Given the description of an element on the screen output the (x, y) to click on. 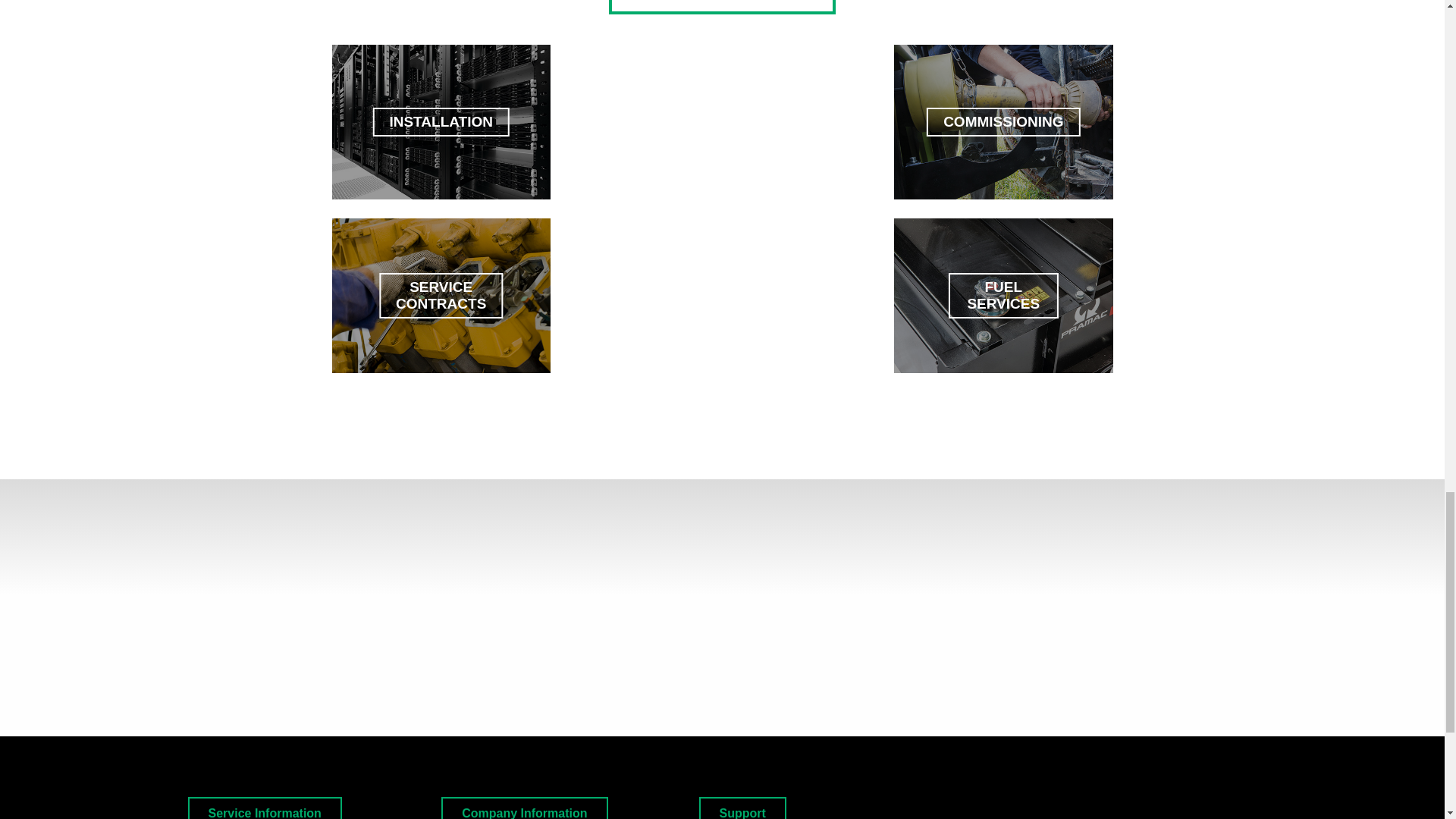
Installation (440, 122)
Service Contracts (440, 295)
SERVICE CONTRACTS (440, 295)
Commissioning (1002, 122)
FUEL SERVICES (1002, 295)
Fuel Services (1002, 295)
COMMISSIONING (1002, 122)
INSTALLATION (440, 122)
